Given the description of an element on the screen output the (x, y) to click on. 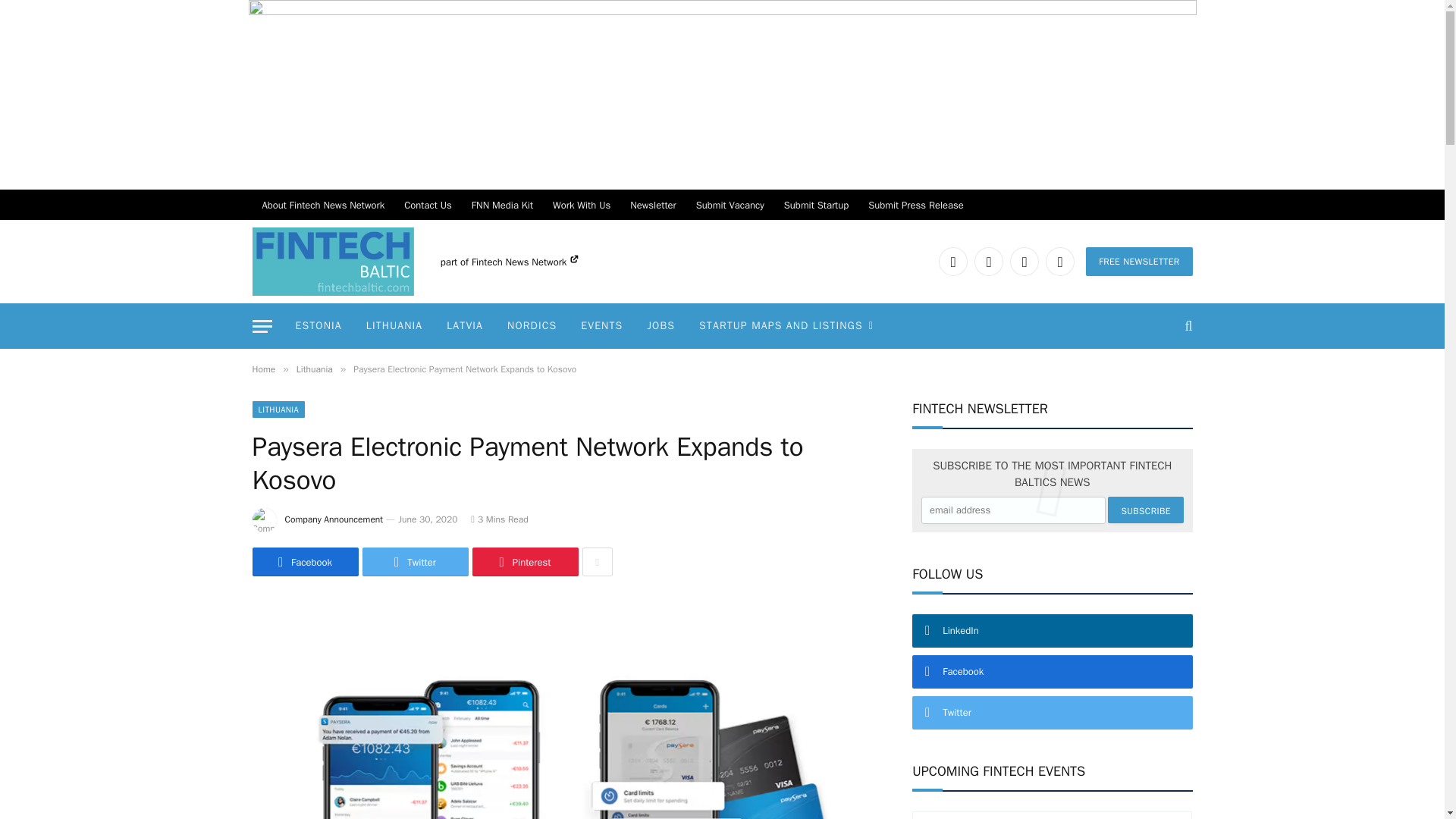
Newsletter (652, 204)
Submit Press Release (916, 204)
Submit Startup (816, 204)
Facebook (988, 261)
Fintech in Baltic (332, 261)
Share on Facebook (304, 561)
LinkedIn (953, 261)
Fintech News Network (524, 261)
About Fintech News Network (322, 204)
Submit Vacancy (729, 204)
